Given the description of an element on the screen output the (x, y) to click on. 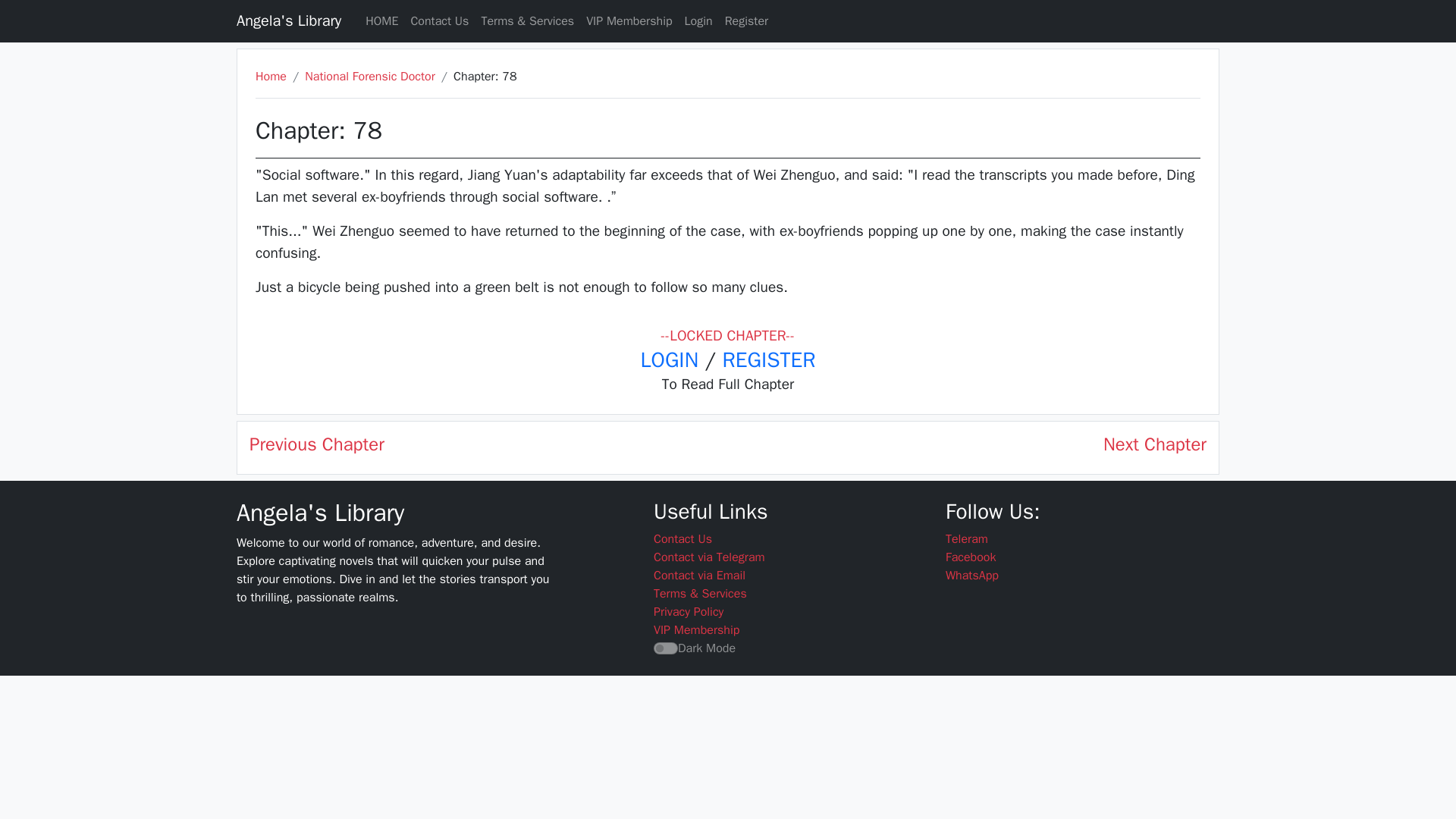
Facebook (969, 557)
Register (746, 20)
Contact via Email (699, 575)
REGISTER (768, 359)
Next Chapter (1155, 444)
Contact via Telegram (709, 557)
Home (271, 76)
HOME (381, 20)
Login (698, 20)
Privacy Policy (688, 611)
